Given the description of an element on the screen output the (x, y) to click on. 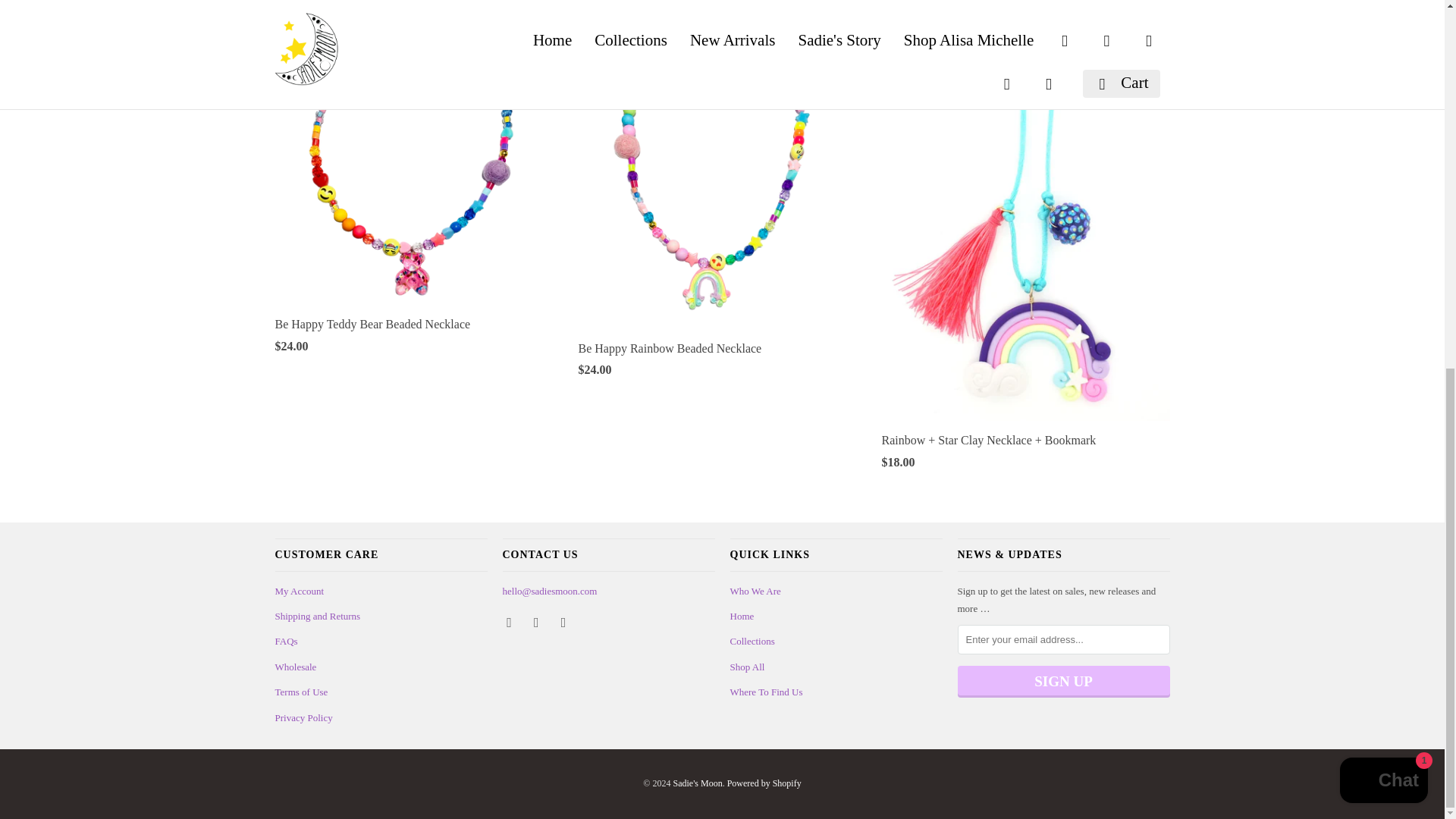
Privacy Policy (303, 717)
Wholesale (295, 666)
FAQs (286, 641)
Terms and Use (301, 691)
Terms of Use (301, 691)
FAQs (286, 641)
Shipping and Returns (317, 615)
My Account (299, 591)
Sign Up (1062, 681)
Wholesale (295, 666)
Shipping and Returns (317, 615)
